Given the description of an element on the screen output the (x, y) to click on. 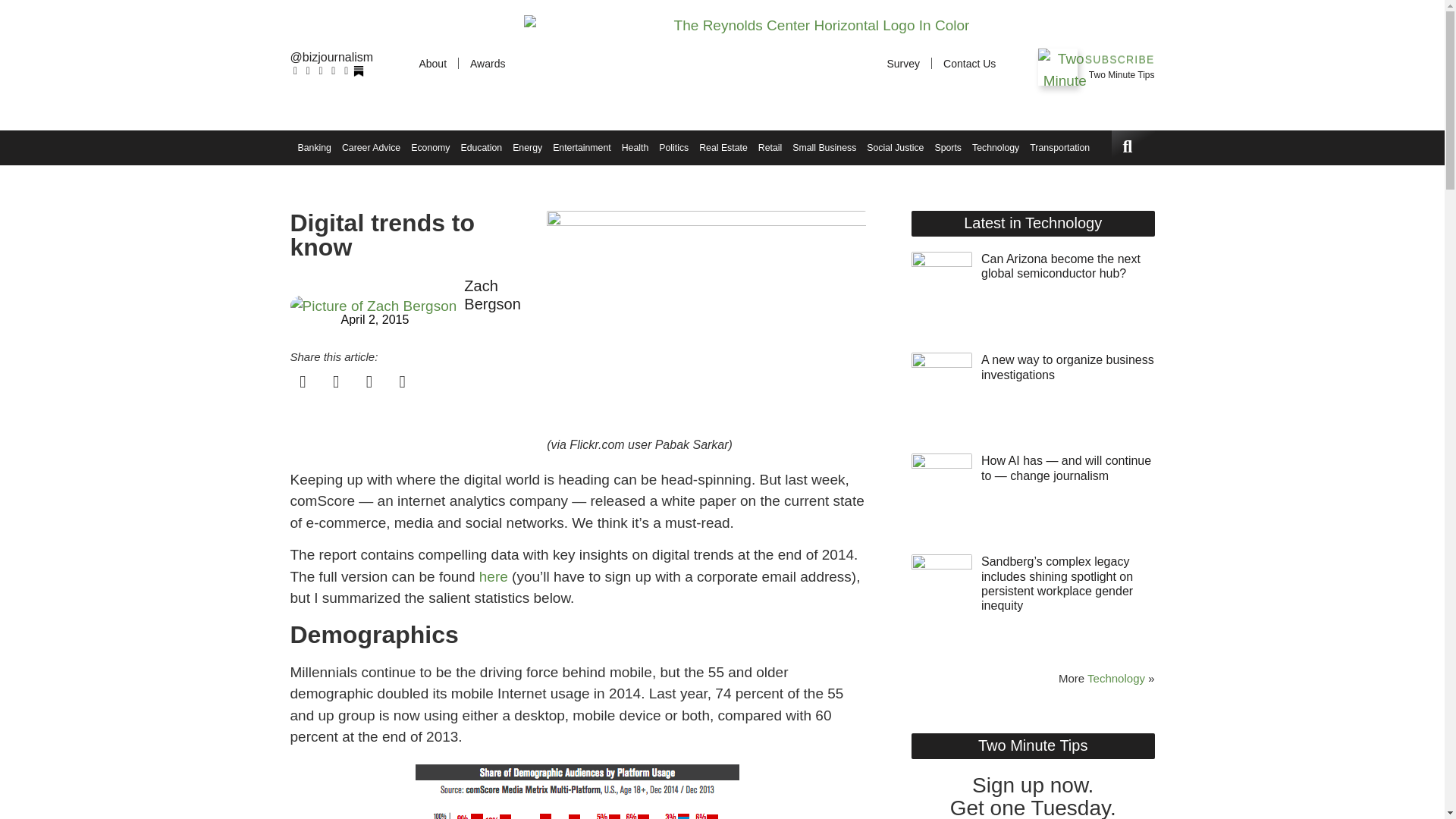
Politics (673, 147)
Banking (314, 147)
Awards (487, 63)
Transportation (1059, 147)
Sports (947, 147)
Technology (995, 147)
Real Estate (723, 147)
Economy (430, 147)
Social Justice (894, 147)
Entertainment (581, 147)
SUBSCRIBE (1119, 59)
Retail (769, 147)
About (432, 63)
Survey (903, 63)
Education (480, 147)
